Given the description of an element on the screen output the (x, y) to click on. 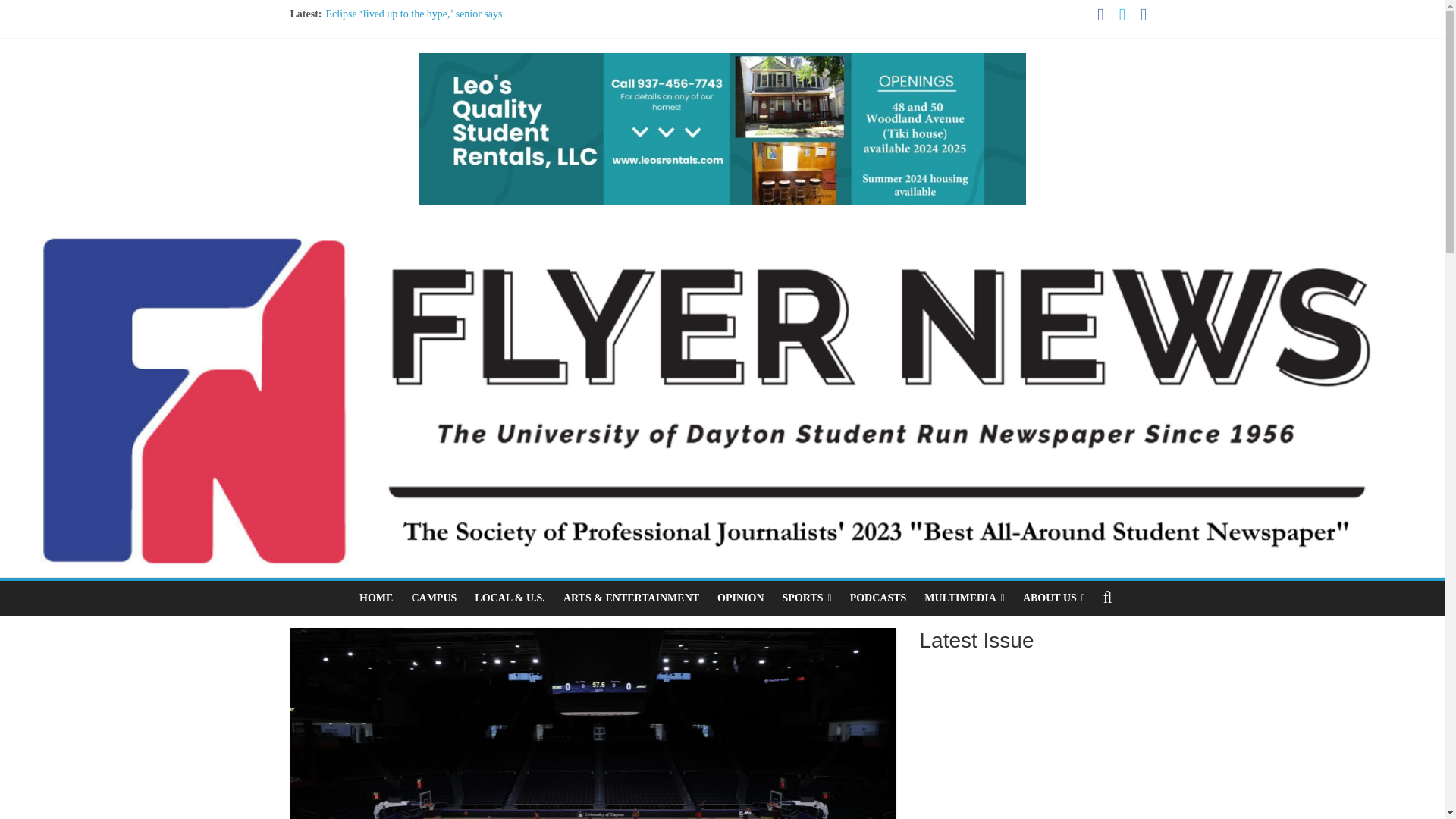
CAMPUS (433, 597)
ABOUT US (1053, 597)
HOME (375, 597)
SPORTS (807, 597)
PODCASTS (878, 597)
OPINION (740, 597)
MULTIMEDIA (964, 597)
